Given the description of an element on the screen output the (x, y) to click on. 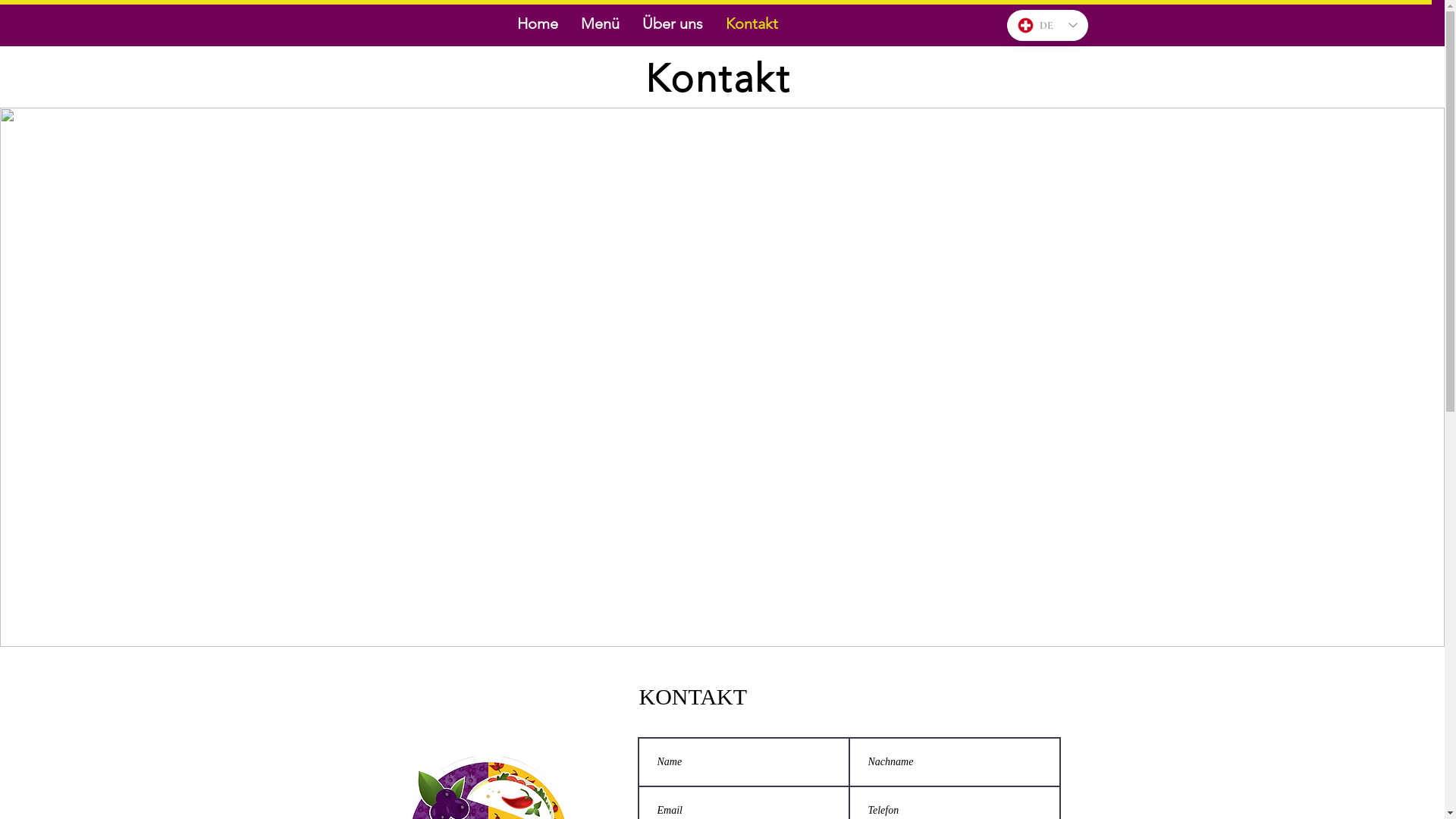
Kontakt Element type: text (751, 23)
Home Element type: text (536, 23)
